Given the description of an element on the screen output the (x, y) to click on. 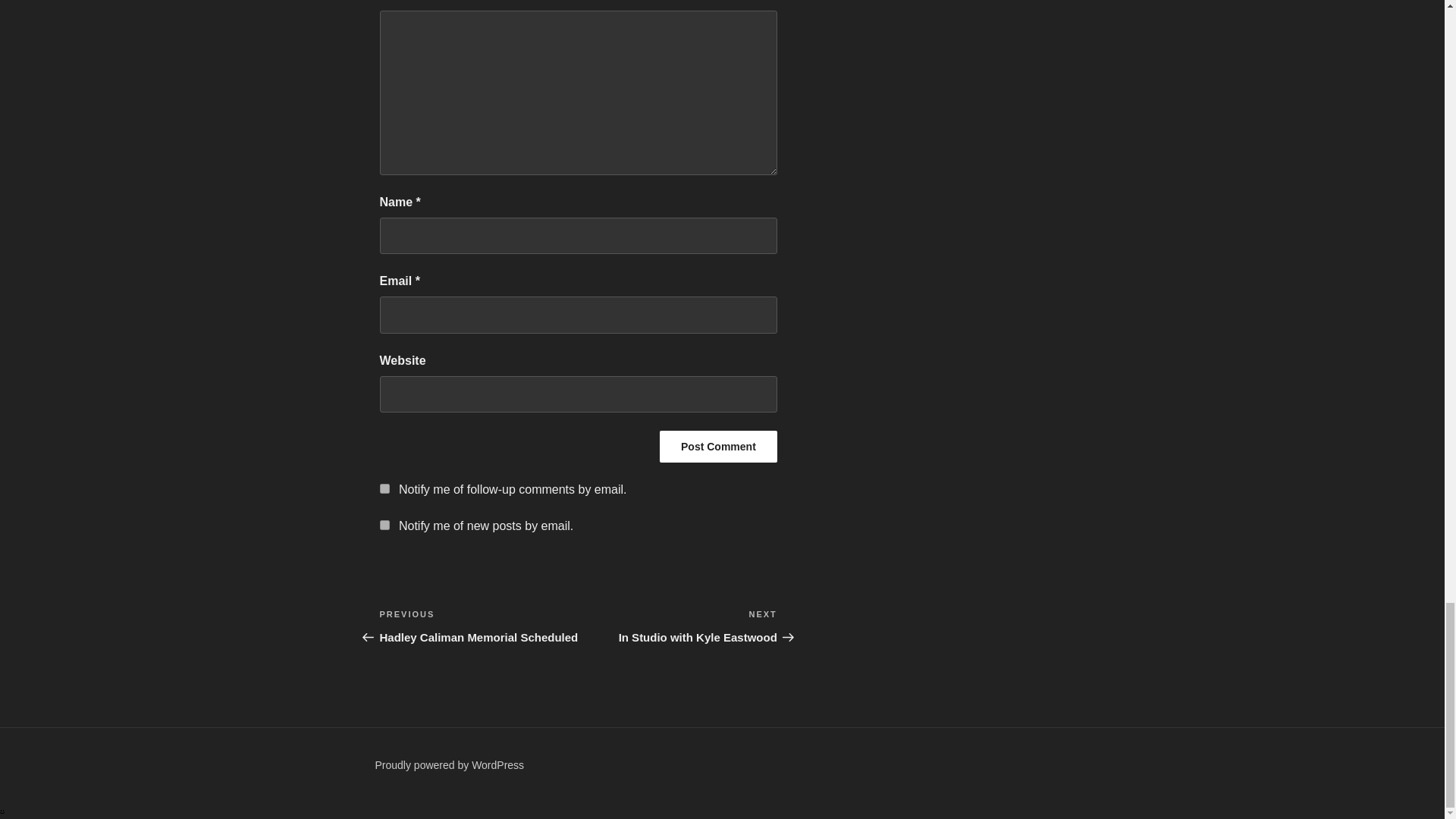
subscribe (383, 524)
subscribe (383, 488)
Post Comment (677, 626)
Post Comment (478, 626)
